Given the description of an element on the screen output the (x, y) to click on. 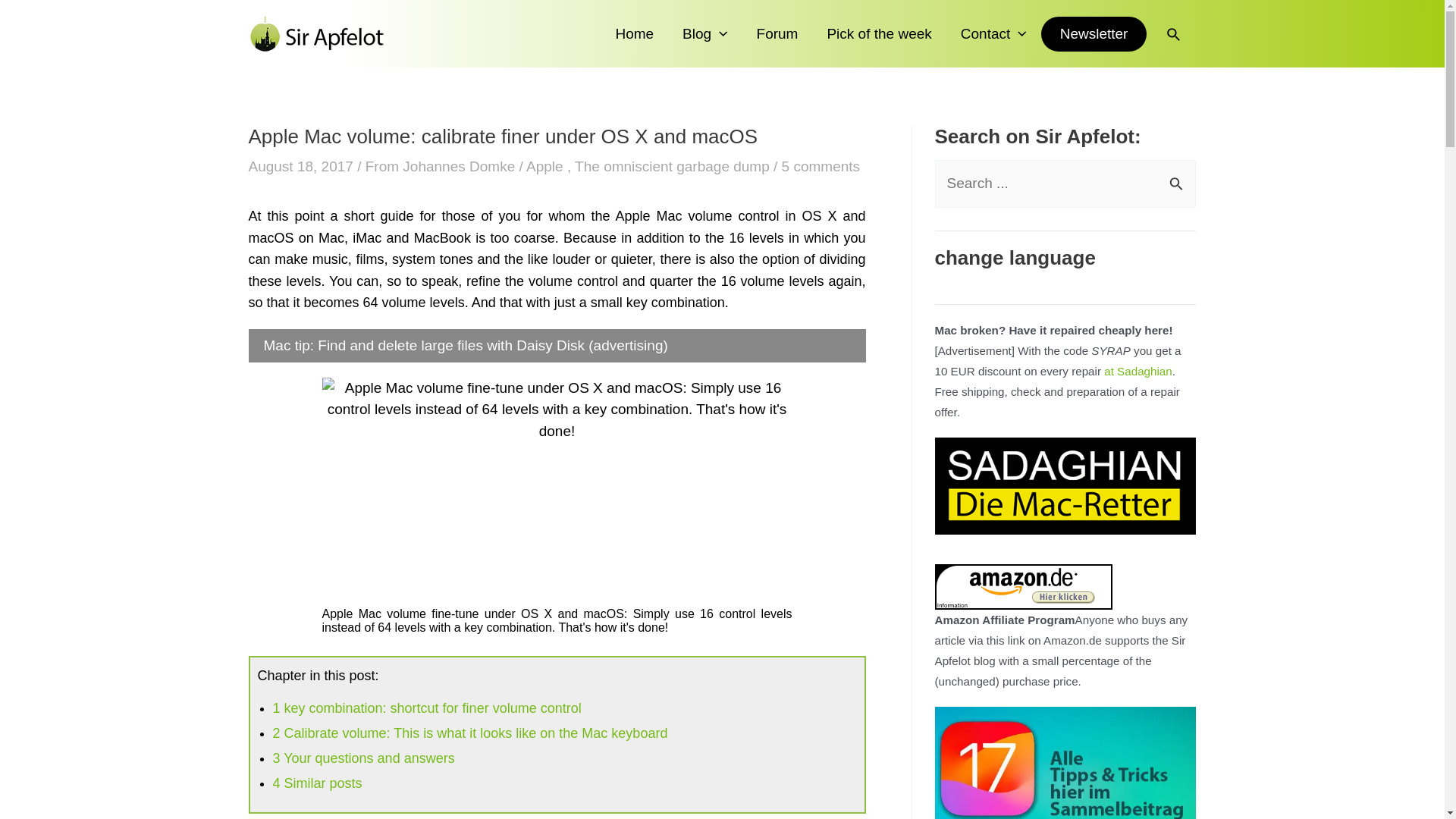
Forum (777, 33)
Blog (704, 33)
Search (1178, 176)
Newsletter (1094, 33)
Search (1178, 176)
Pick of the week (878, 33)
View all posts by Johannes Domke (460, 166)
Contact (993, 33)
Home (633, 33)
